Given the description of an element on the screen output the (x, y) to click on. 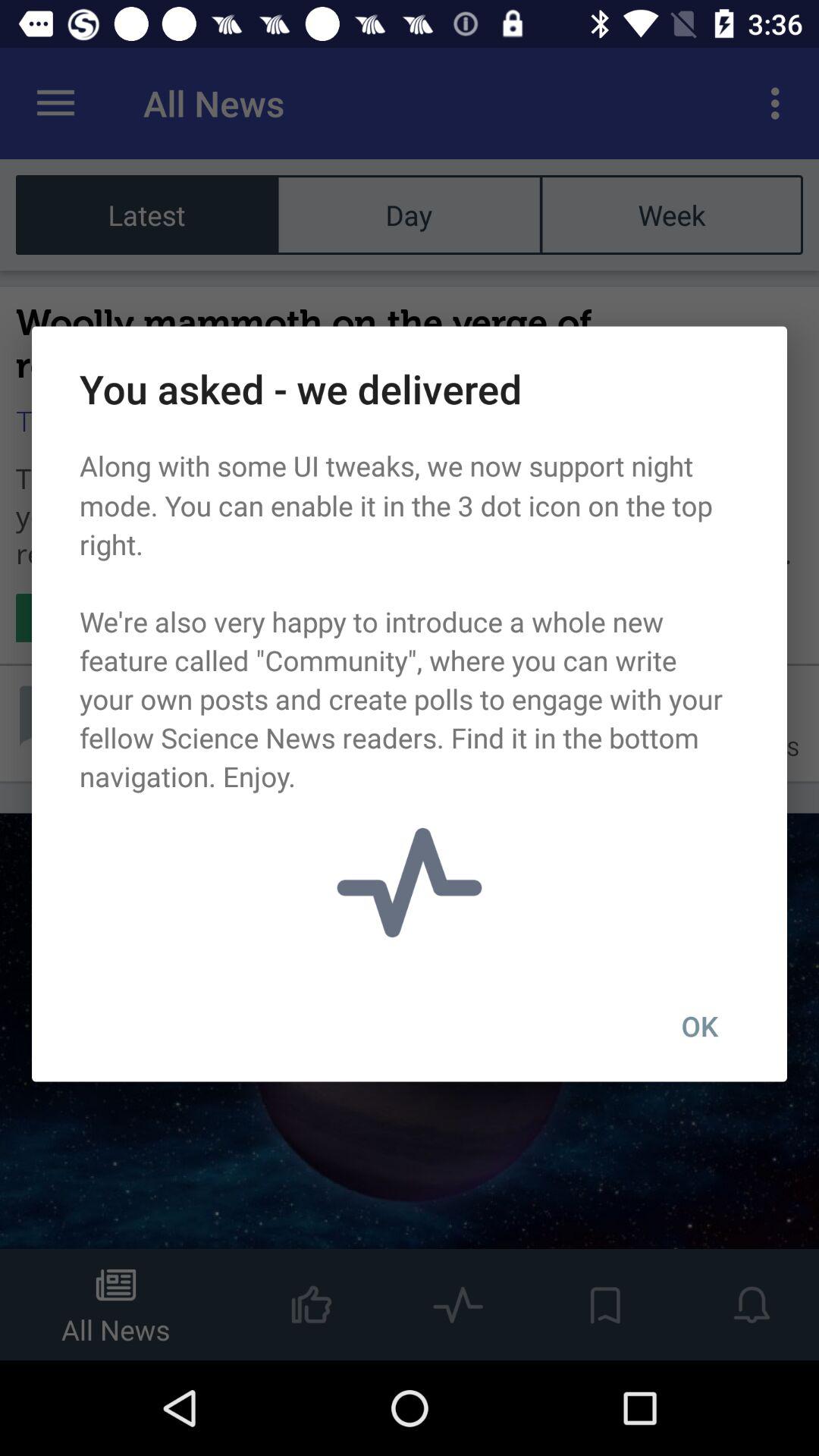
turn off the ok item (699, 1025)
